Given the description of an element on the screen output the (x, y) to click on. 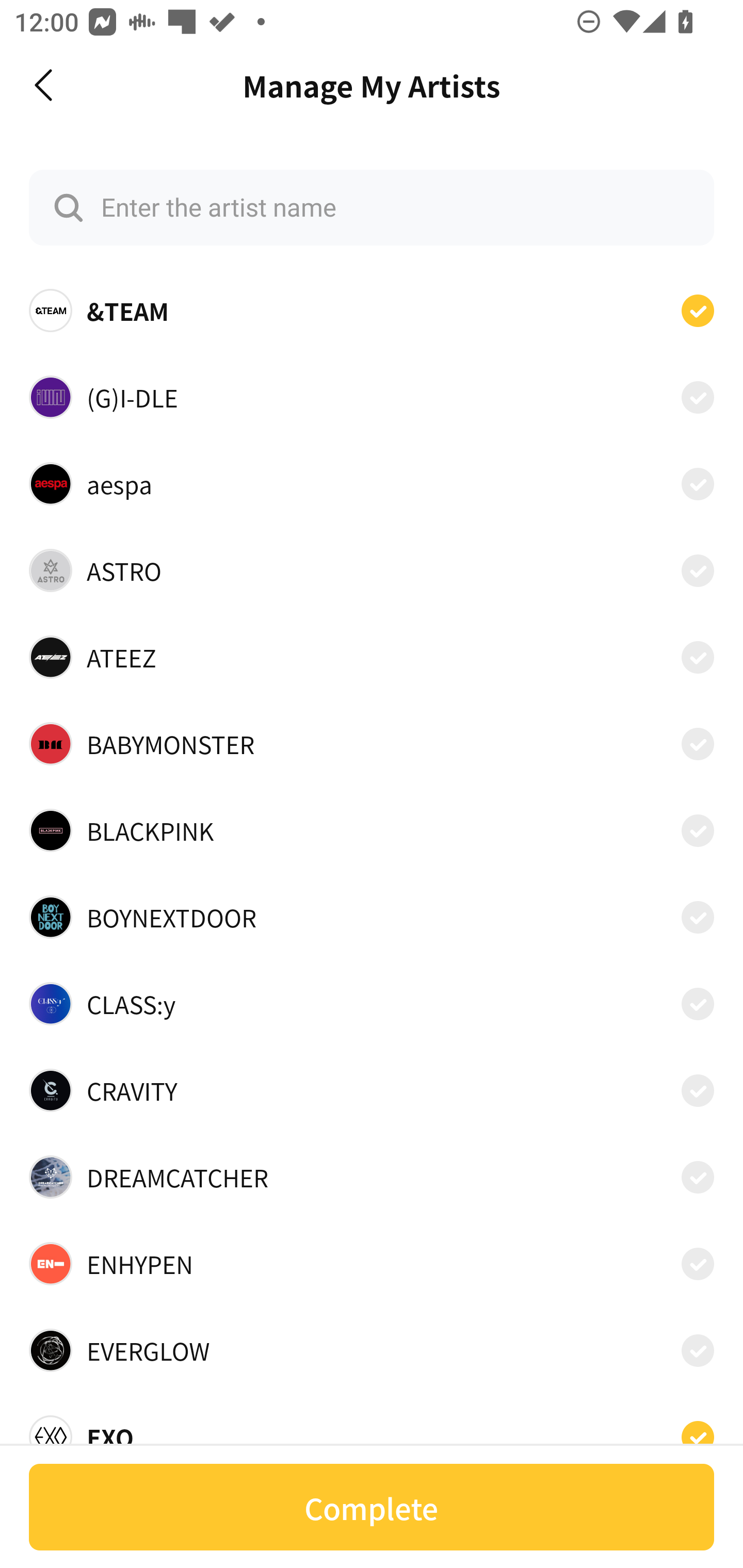
Enter the artist name (371, 207)
&TEAM (371, 310)
(G)I-DLE (371, 396)
aespa (371, 483)
ASTRO (371, 570)
ATEEZ (371, 656)
BABYMONSTER (371, 743)
BLACKPINK (371, 830)
BOYNEXTDOOR (371, 917)
CLASS:y (371, 1003)
CRAVITY (371, 1090)
DREAMCATCHER (371, 1176)
ENHYPEN (371, 1263)
EVERGLOW (371, 1350)
EXO (371, 1430)
Complete (371, 1507)
